Given the description of an element on the screen output the (x, y) to click on. 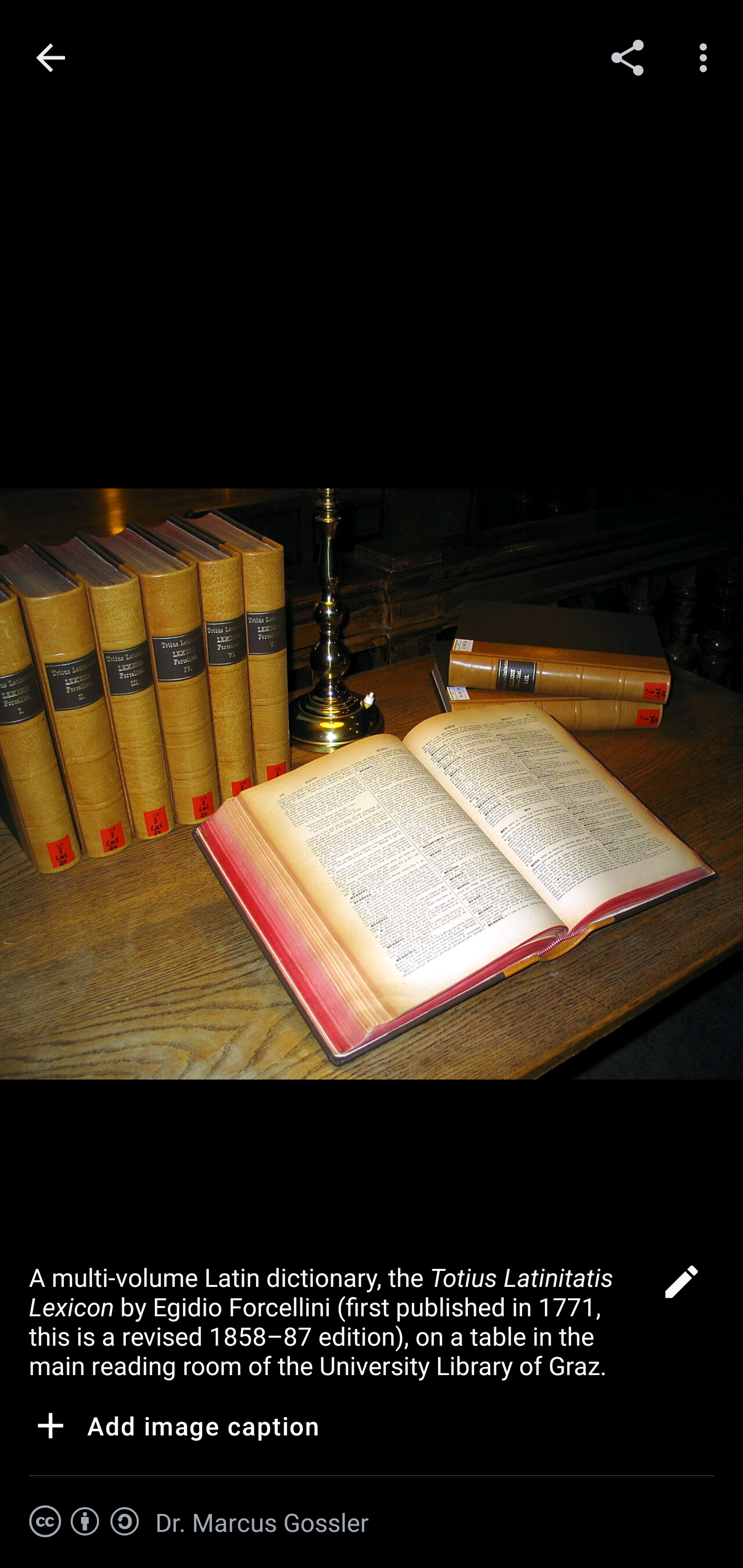
Navigate up (50, 57)
Share (626, 57)
More options (706, 57)
Edit image caption (681, 1286)
Add image caption (174, 1428)
CC BY-SA 3.0 (84, 1521)
